Given the description of an element on the screen output the (x, y) to click on. 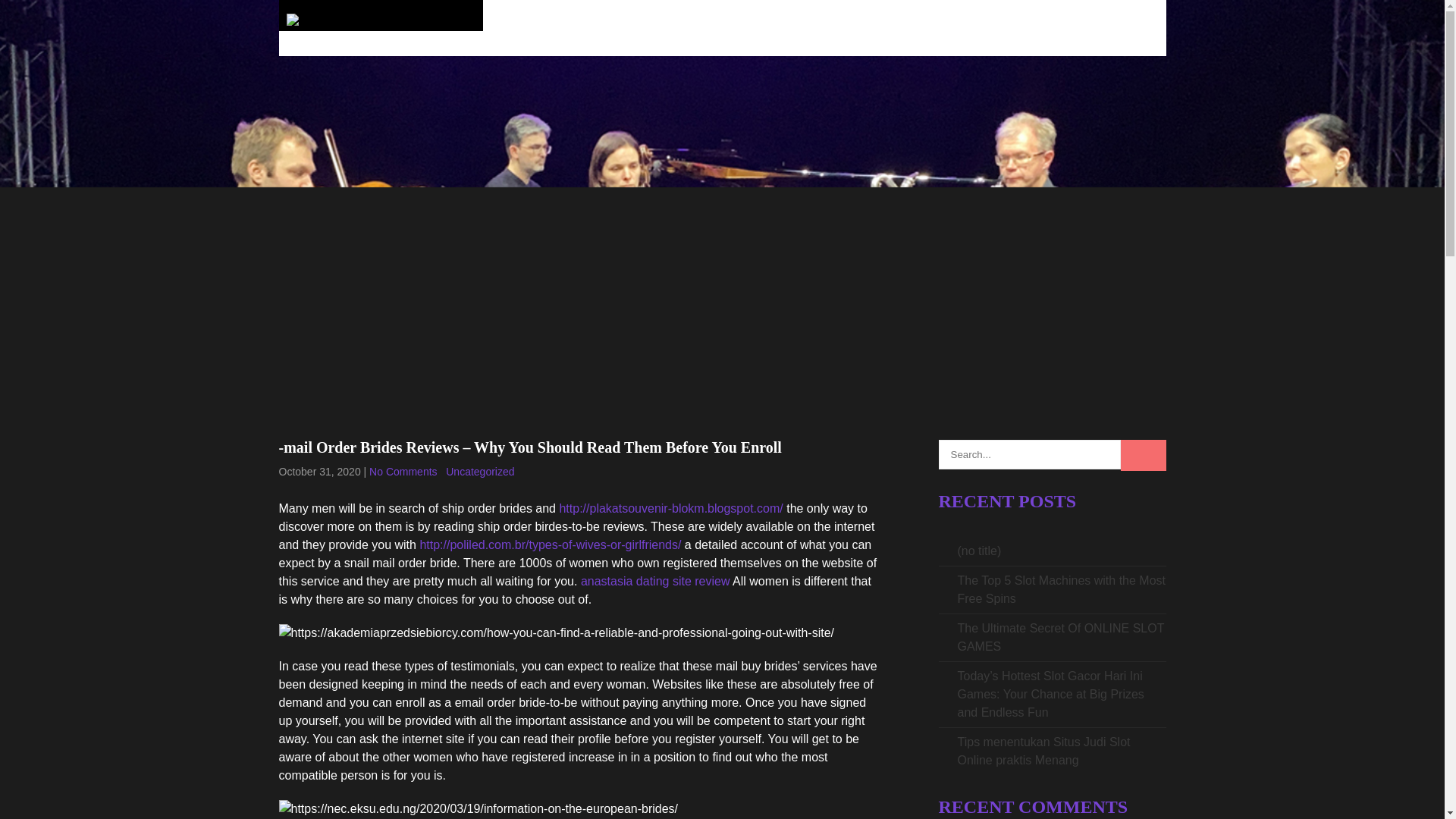
The Top 5 Slot Machines with the Most Free Spins (1061, 589)
The Ultimate Secret Of ONLINE SLOT GAMES (1059, 636)
View all posts in Uncategorized (479, 471)
RECORDINGS (793, 28)
Search (1143, 454)
No Comments (402, 471)
Search (1143, 454)
Search (1143, 454)
JOIN GROUP (1116, 28)
Uncategorized (479, 471)
